Given the description of an element on the screen output the (x, y) to click on. 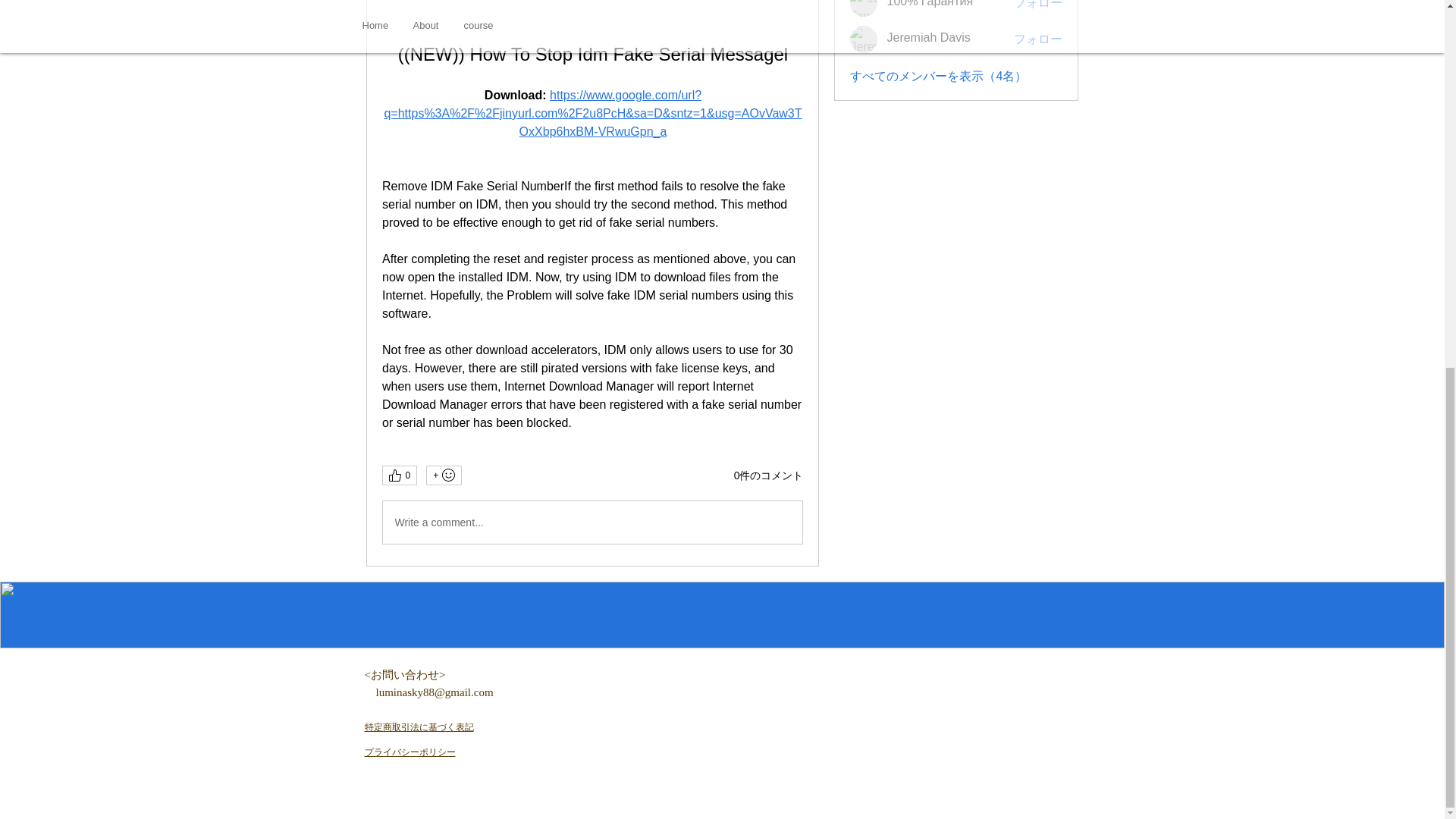
Jeremiah Davis (863, 39)
Write a comment... (591, 522)
Jeremiah Davis (927, 37)
